Given the description of an element on the screen output the (x, y) to click on. 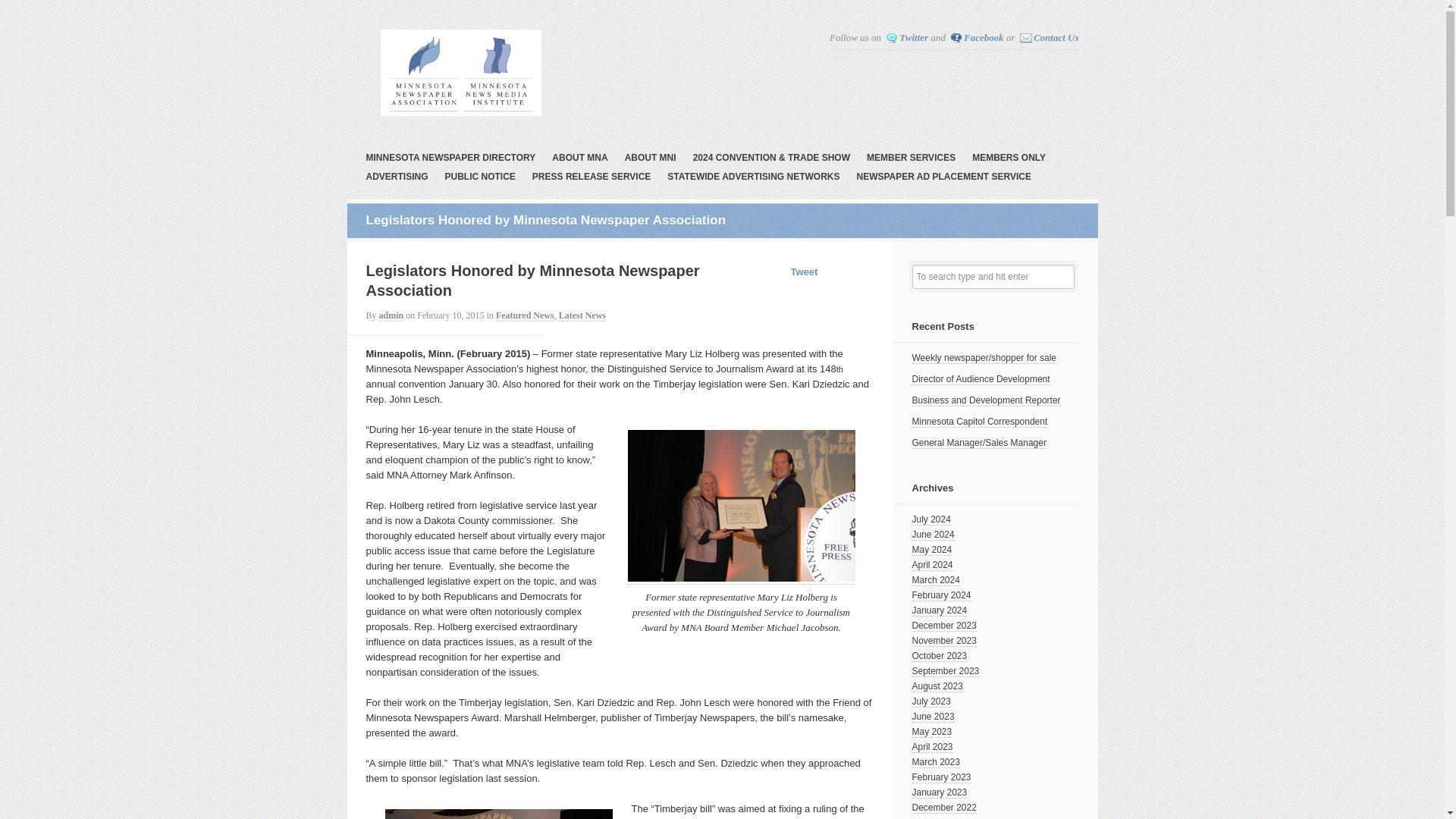
ADVERTISING (396, 178)
MEMBER SERVICES (910, 158)
Facebook (977, 37)
ABOUT MNA (579, 158)
MINNESOTA NEWSPAPER DIRECTORY (450, 158)
MEMBERS ONLY (1008, 158)
To search type and hit enter (992, 276)
Contact Us (1049, 37)
Posts by admin (391, 315)
ABOUT MNI (650, 158)
Twitter (906, 37)
